Given the description of an element on the screen output the (x, y) to click on. 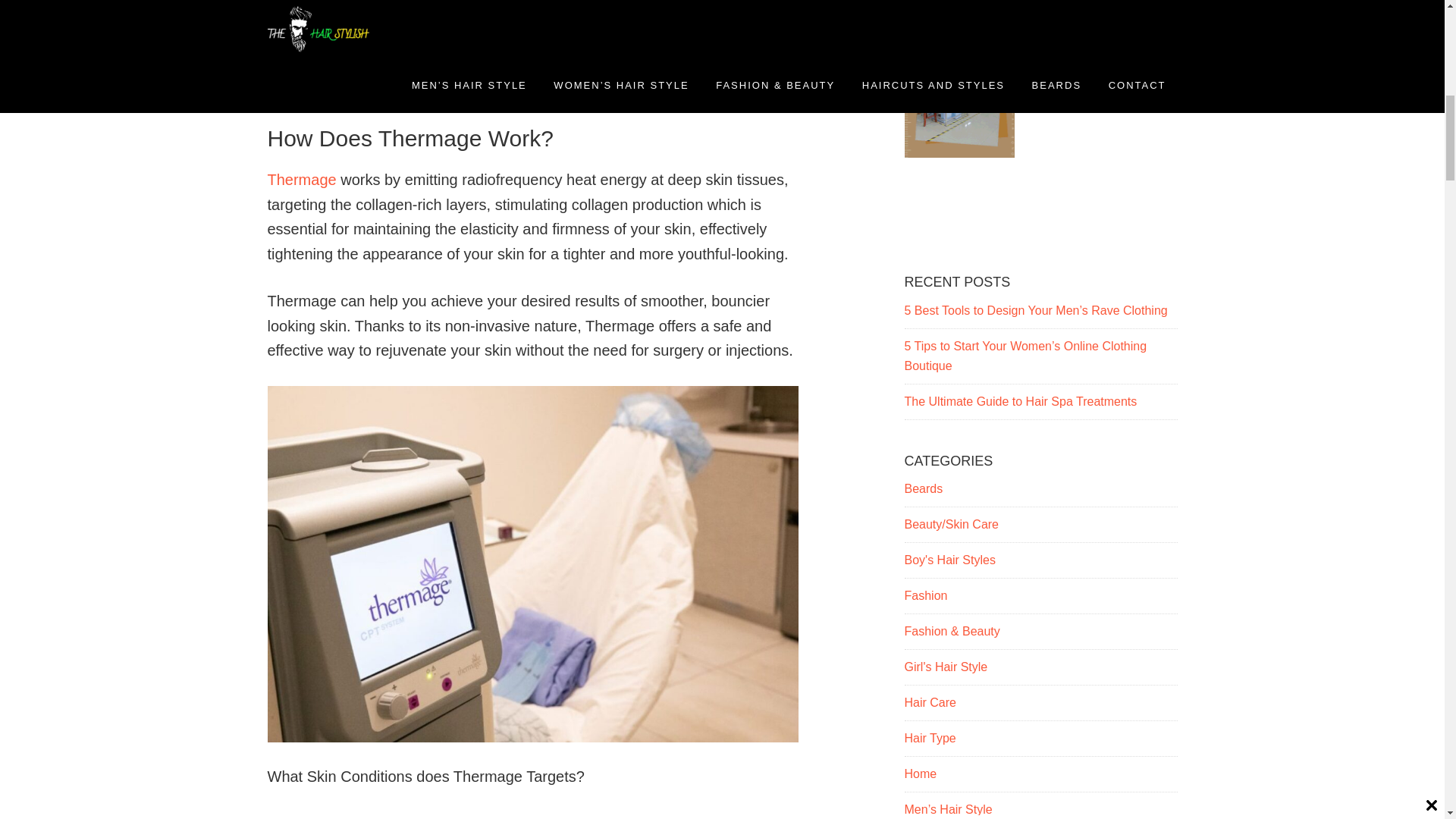
What will help me optimize my Thermage treatment results? (481, 9)
Who should not undergo Thermage Treatment? (445, 91)
What will help me optimize my Thermage treatment results? (481, 9)
Thermage (301, 179)
At what age should I decide to get a Thermage treatment? (476, 70)
Who should not undergo Thermage Treatment? (445, 91)
At what age should I decide to get a Thermage treatment? (476, 70)
